Given the description of an element on the screen output the (x, y) to click on. 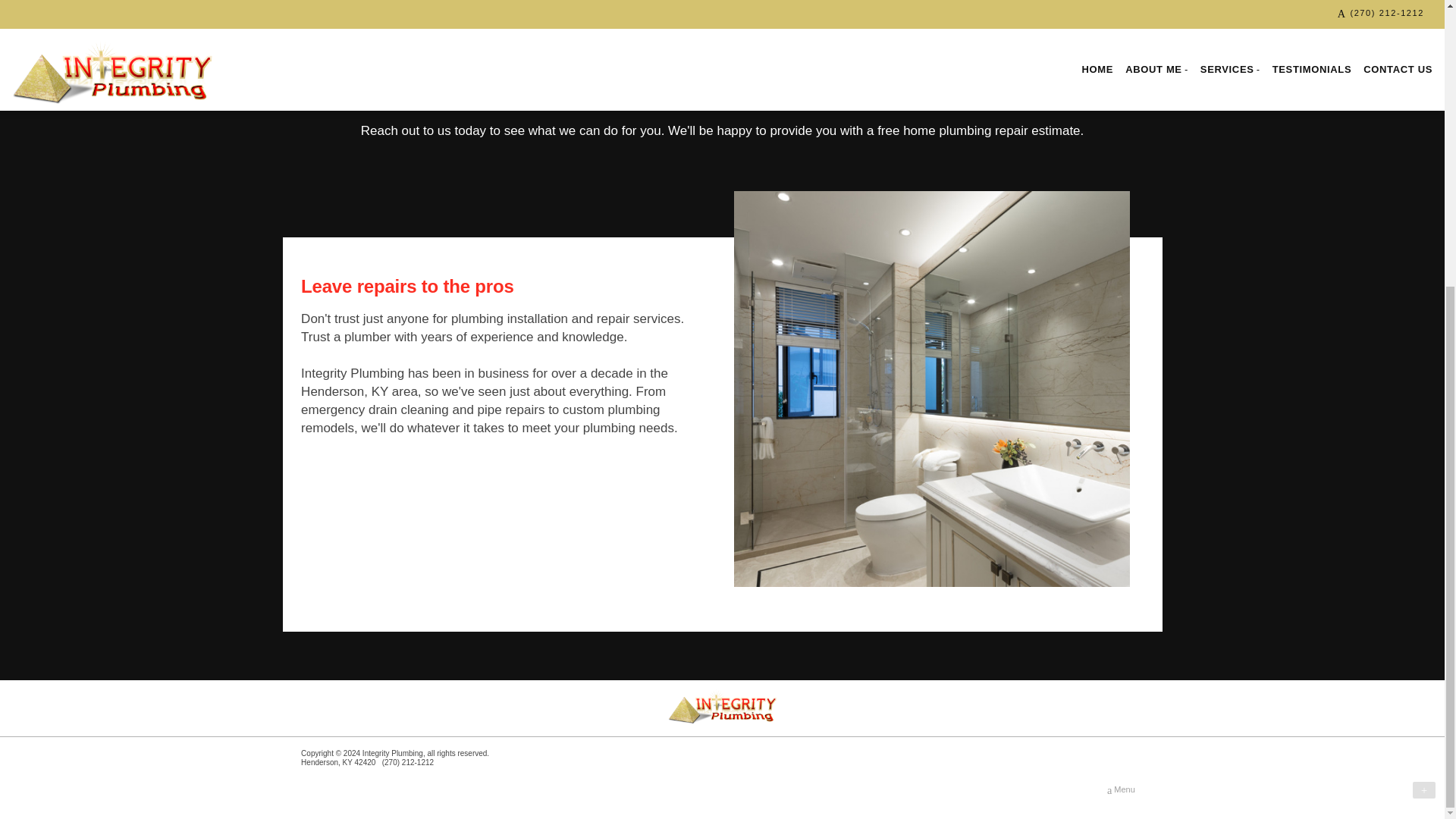
Menu (1120, 790)
Integrity Plumbing (721, 704)
Open Menu (1120, 790)
